Given the description of an element on the screen output the (x, y) to click on. 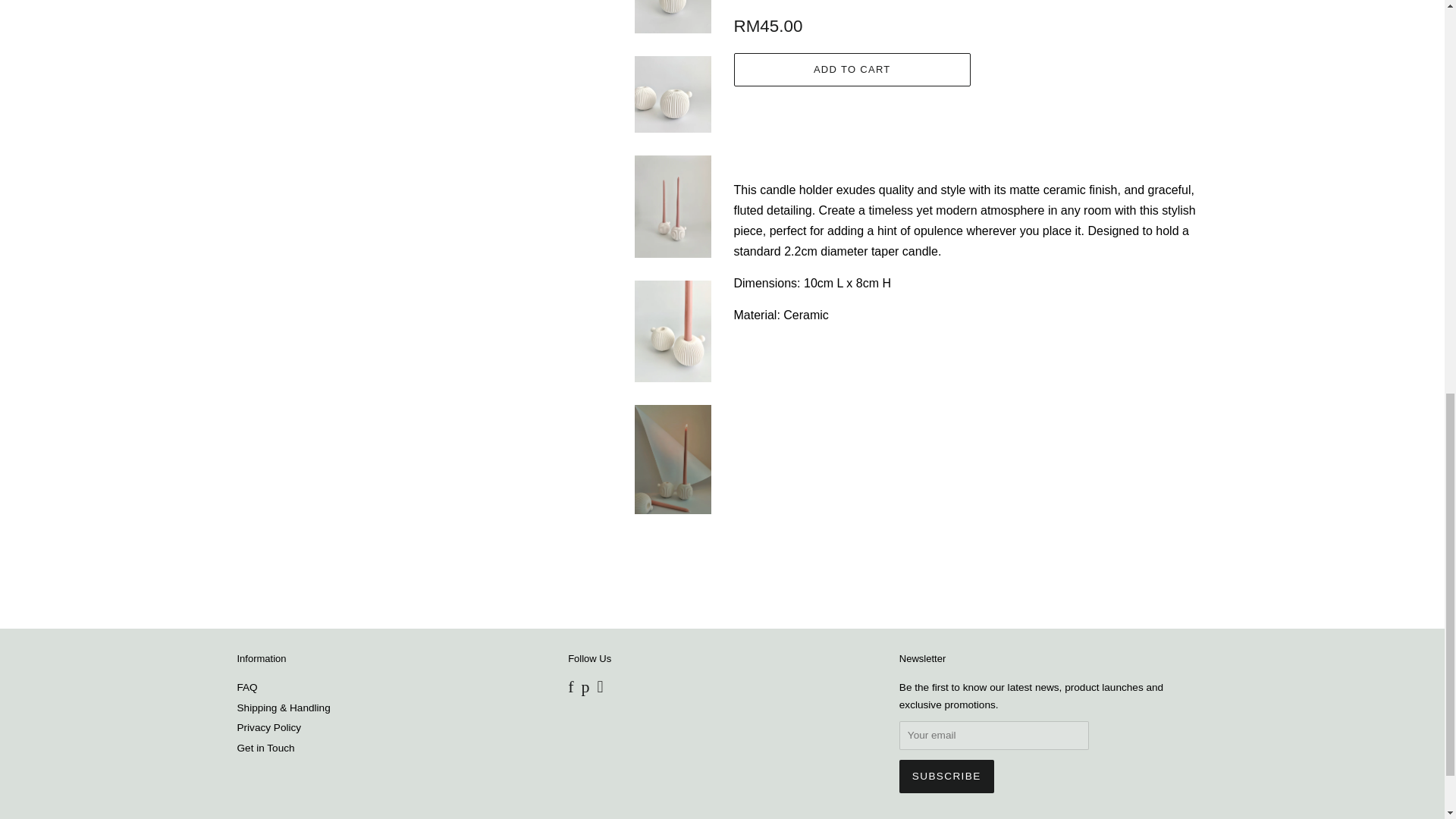
Subscribe (946, 776)
